Given the description of an element on the screen output the (x, y) to click on. 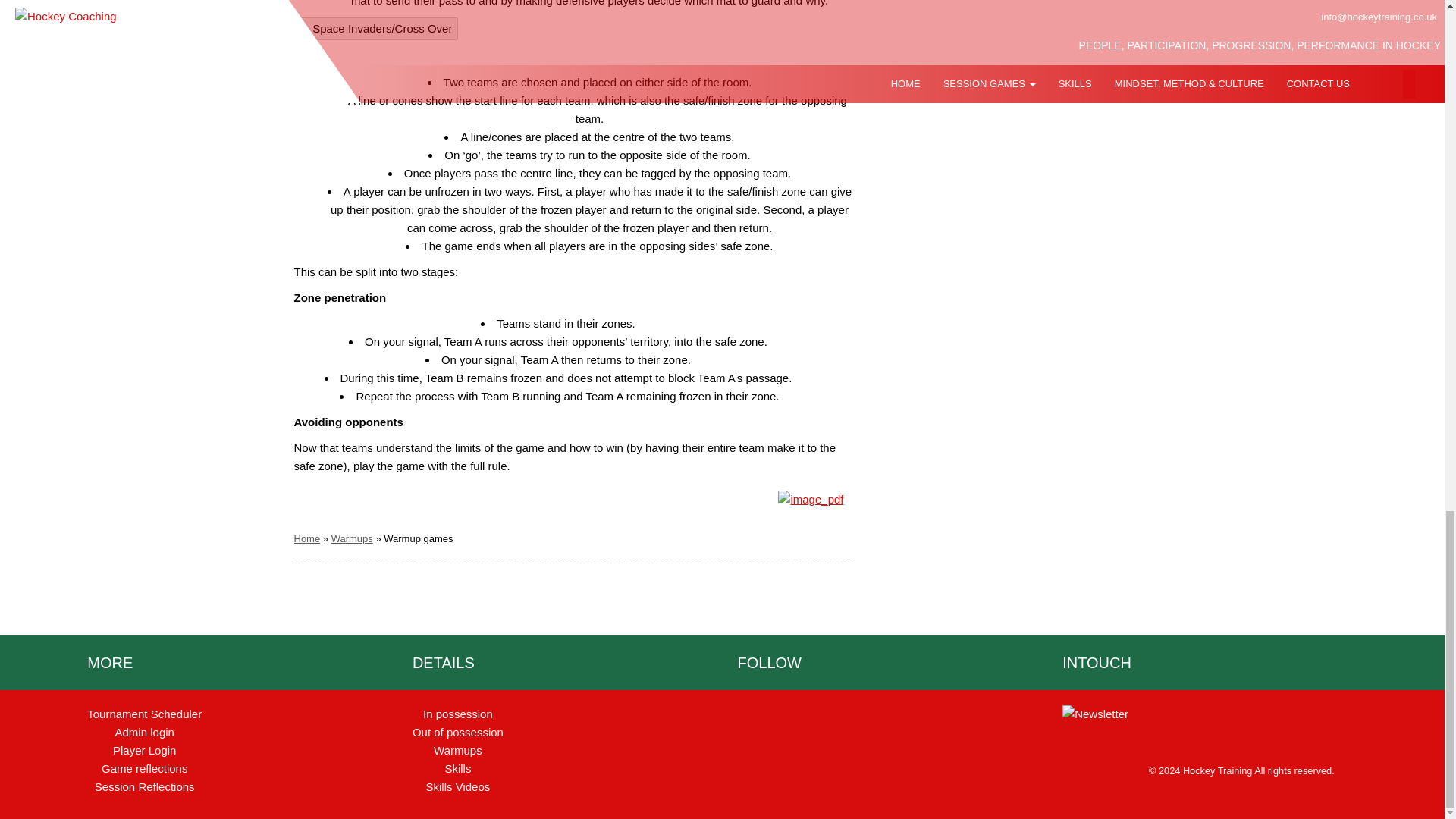
Warmups (351, 538)
Admin login (144, 731)
Game reflections (144, 768)
Tournament Scheduler (144, 713)
Player Login (144, 749)
Home (307, 538)
